Given the description of an element on the screen output the (x, y) to click on. 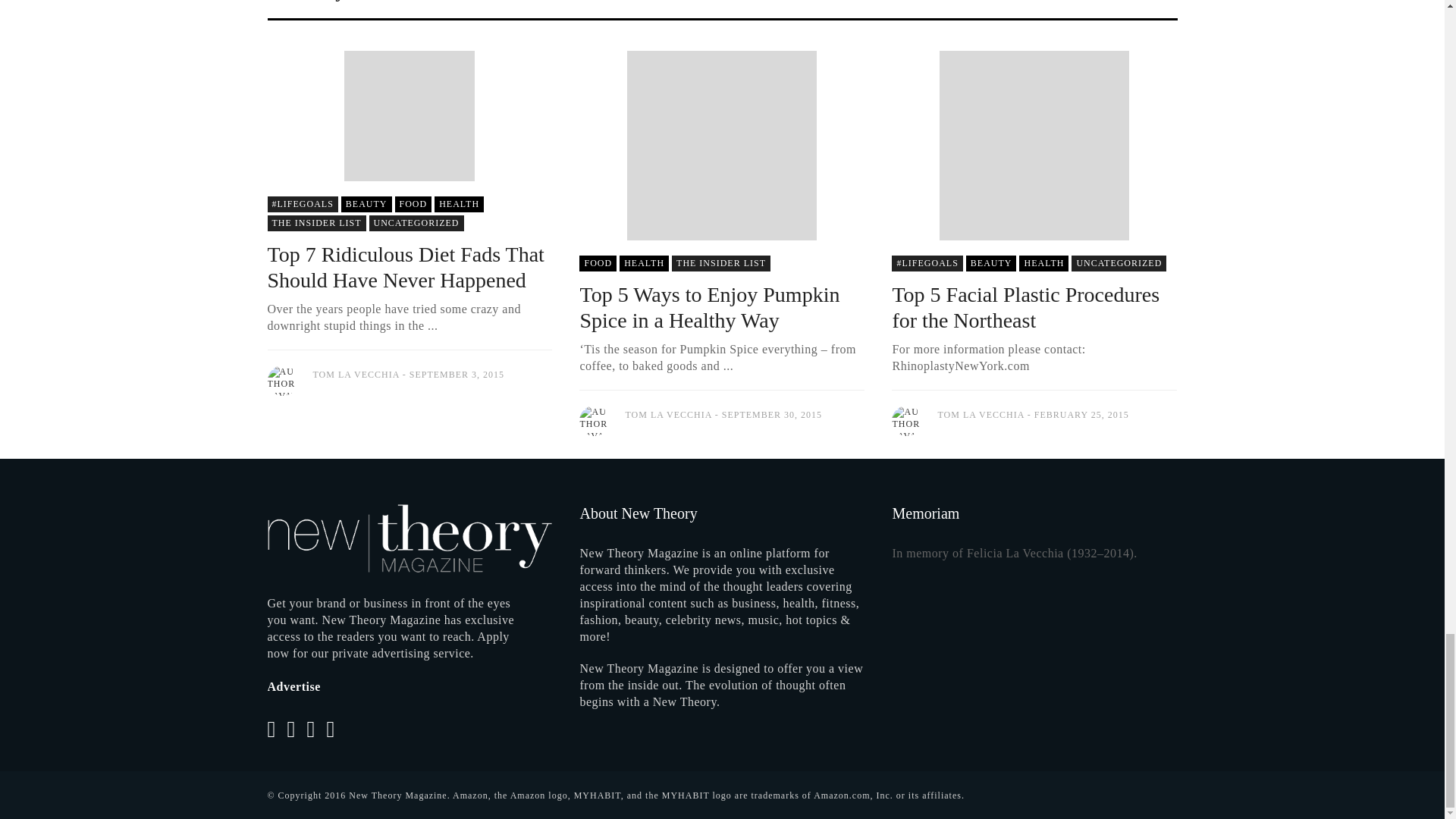
View all posts in 3027 (365, 204)
View all posts in 3040 (413, 204)
View all posts in 1 (415, 222)
View all posts in 3040 (597, 263)
View all posts in 143 (301, 204)
View all posts in 3043 (458, 204)
View all posts in 3034 (315, 222)
